Given the description of an element on the screen output the (x, y) to click on. 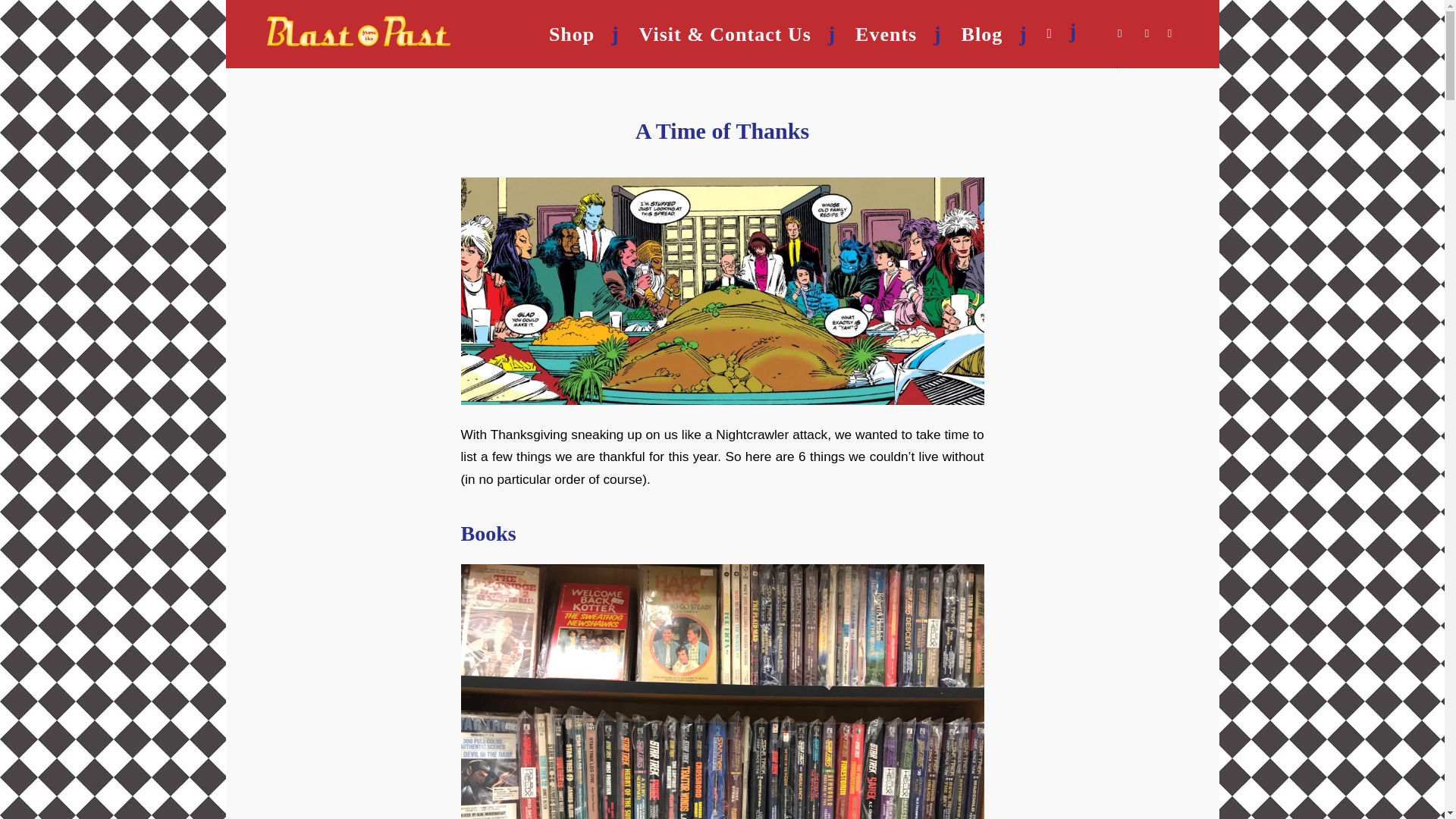
Permanent Link: A Time of Thanks (721, 130)
Events (897, 33)
blast-logo-yellow-white (357, 30)
blast-logo-yellow-white (357, 49)
A Time of Thanks (721, 130)
Shop (583, 33)
